Given the description of an element on the screen output the (x, y) to click on. 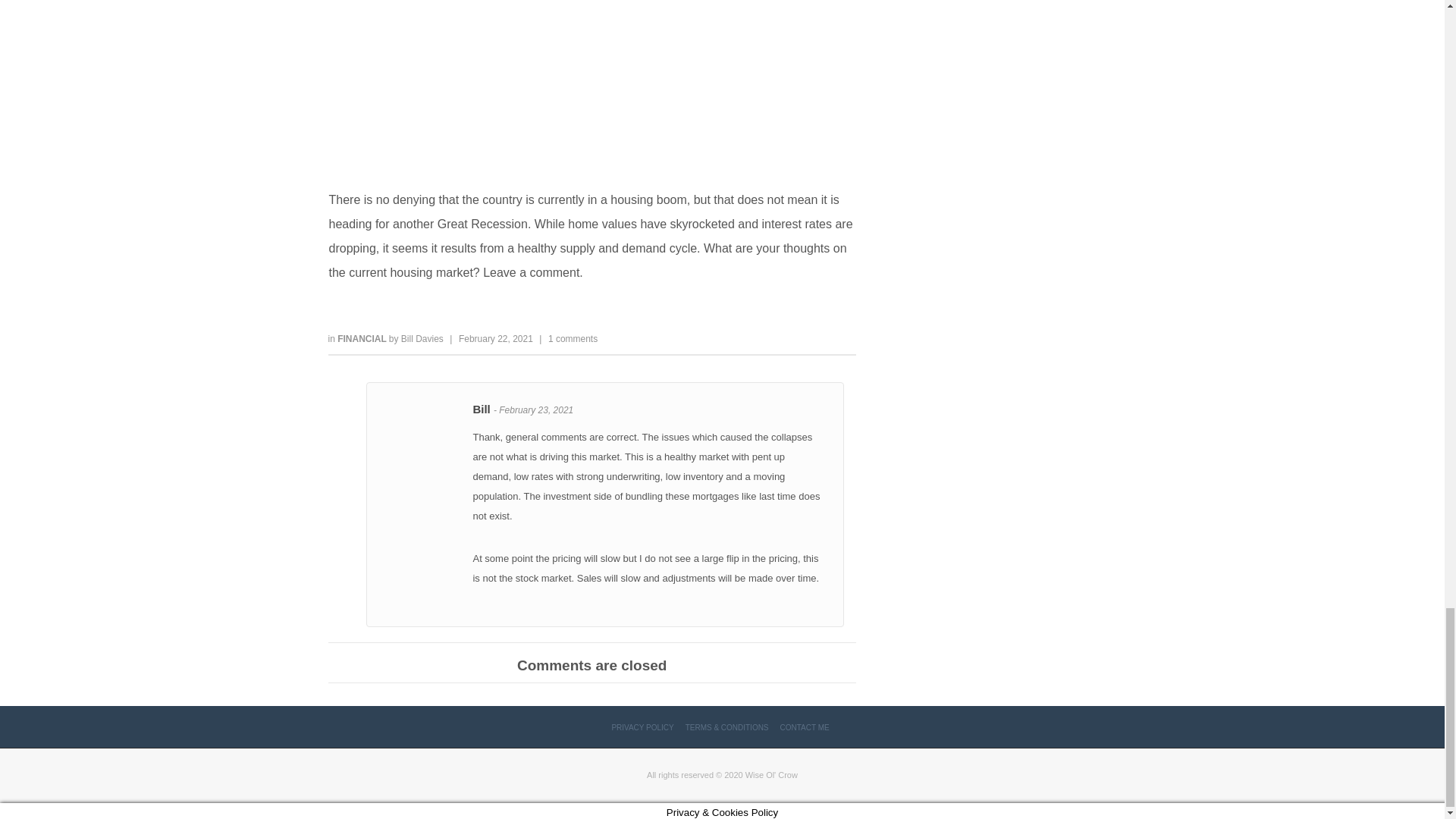
Bill Davies (422, 338)
Bill (482, 408)
1 comments (572, 338)
FINANCIAL (362, 338)
Rent (591, 85)
